Given the description of an element on the screen output the (x, y) to click on. 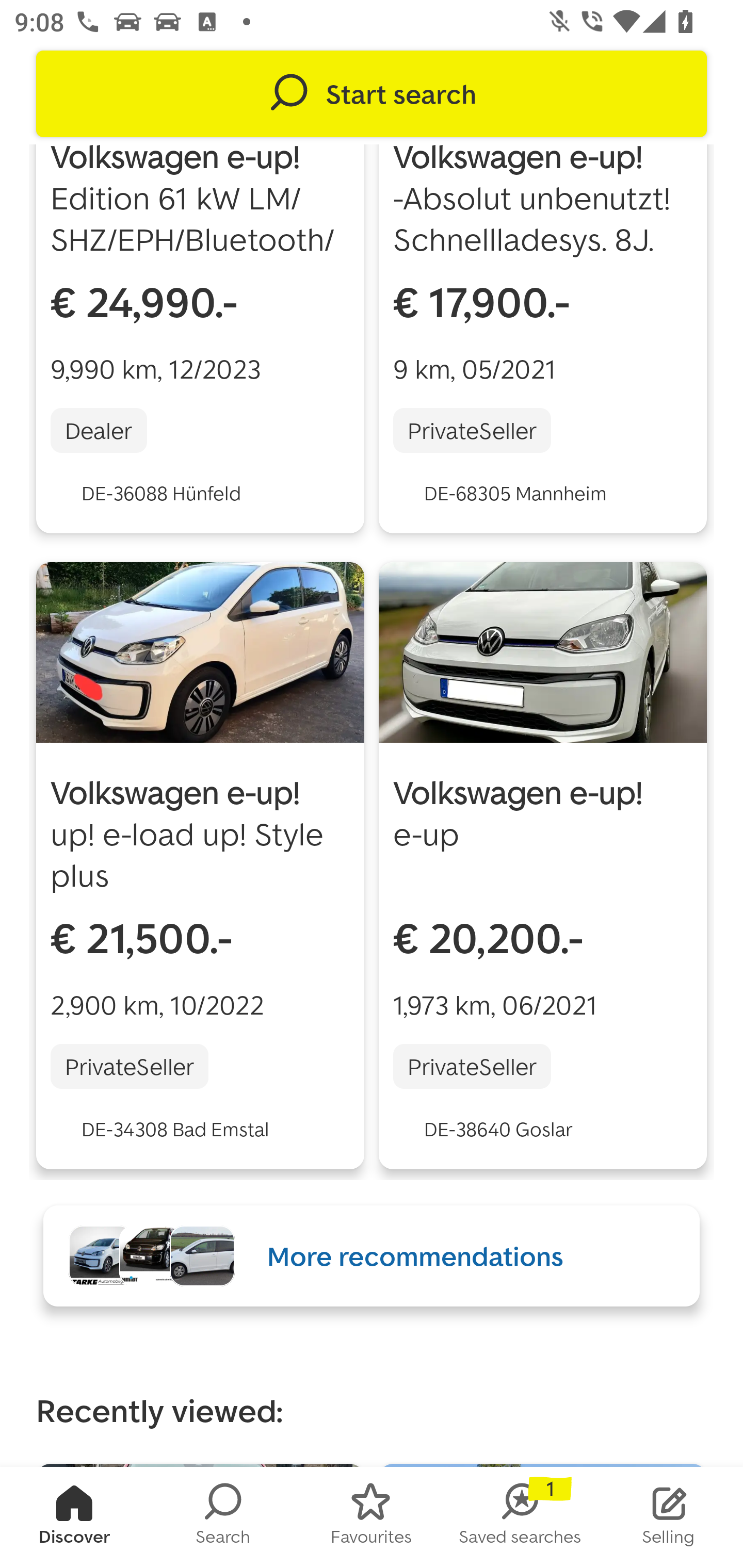
Start search (371, 93)
More recommendations (371, 1255)
HOMESCREEN Discover (74, 1517)
SEARCH Search (222, 1517)
FAVORITES Favourites (371, 1517)
SAVED_SEARCHES Saved searches 1 (519, 1517)
STOCK_LIST Selling (668, 1517)
